Given the description of an element on the screen output the (x, y) to click on. 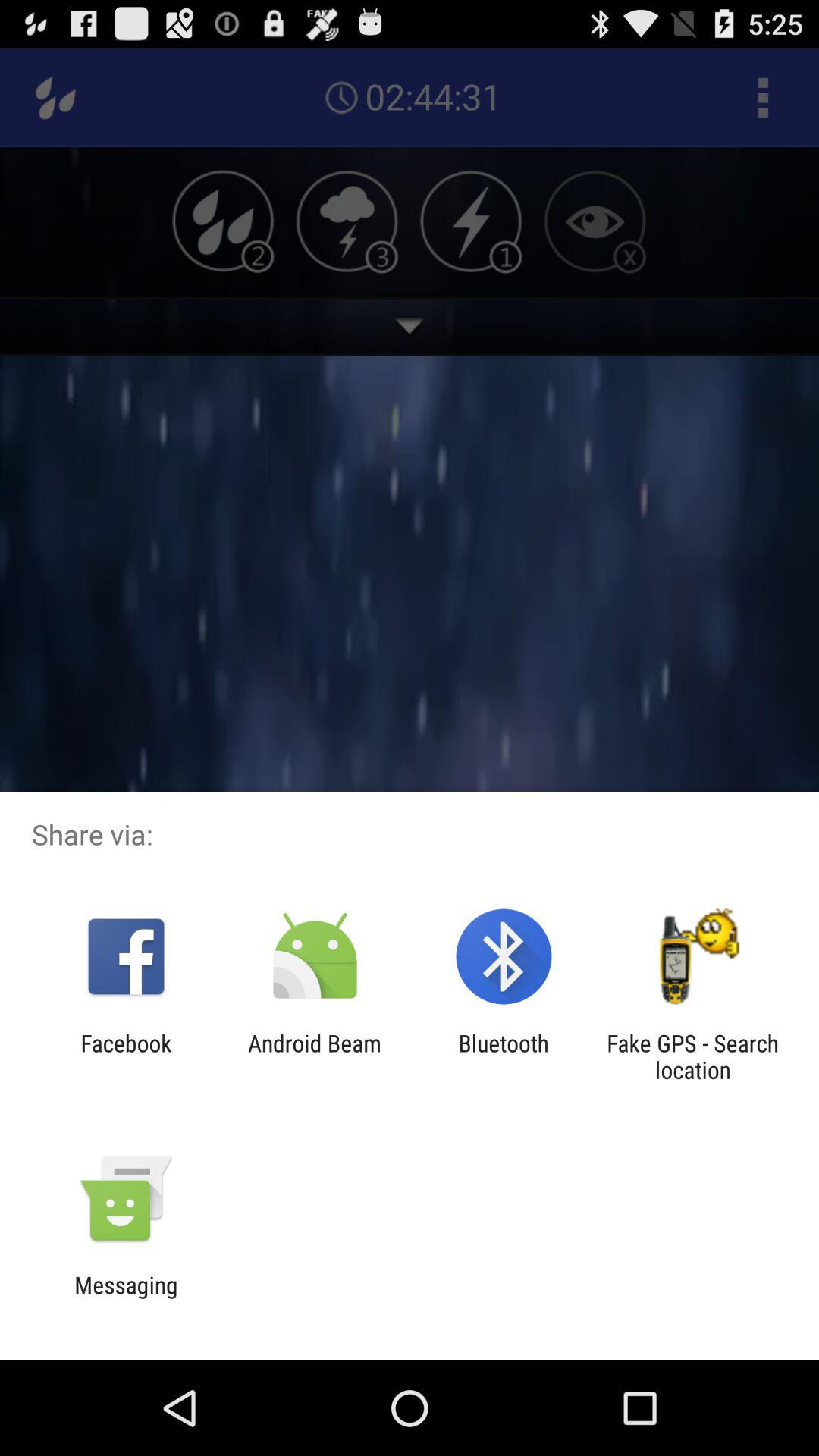
select the icon to the right of bluetooth app (692, 1056)
